Given the description of an element on the screen output the (x, y) to click on. 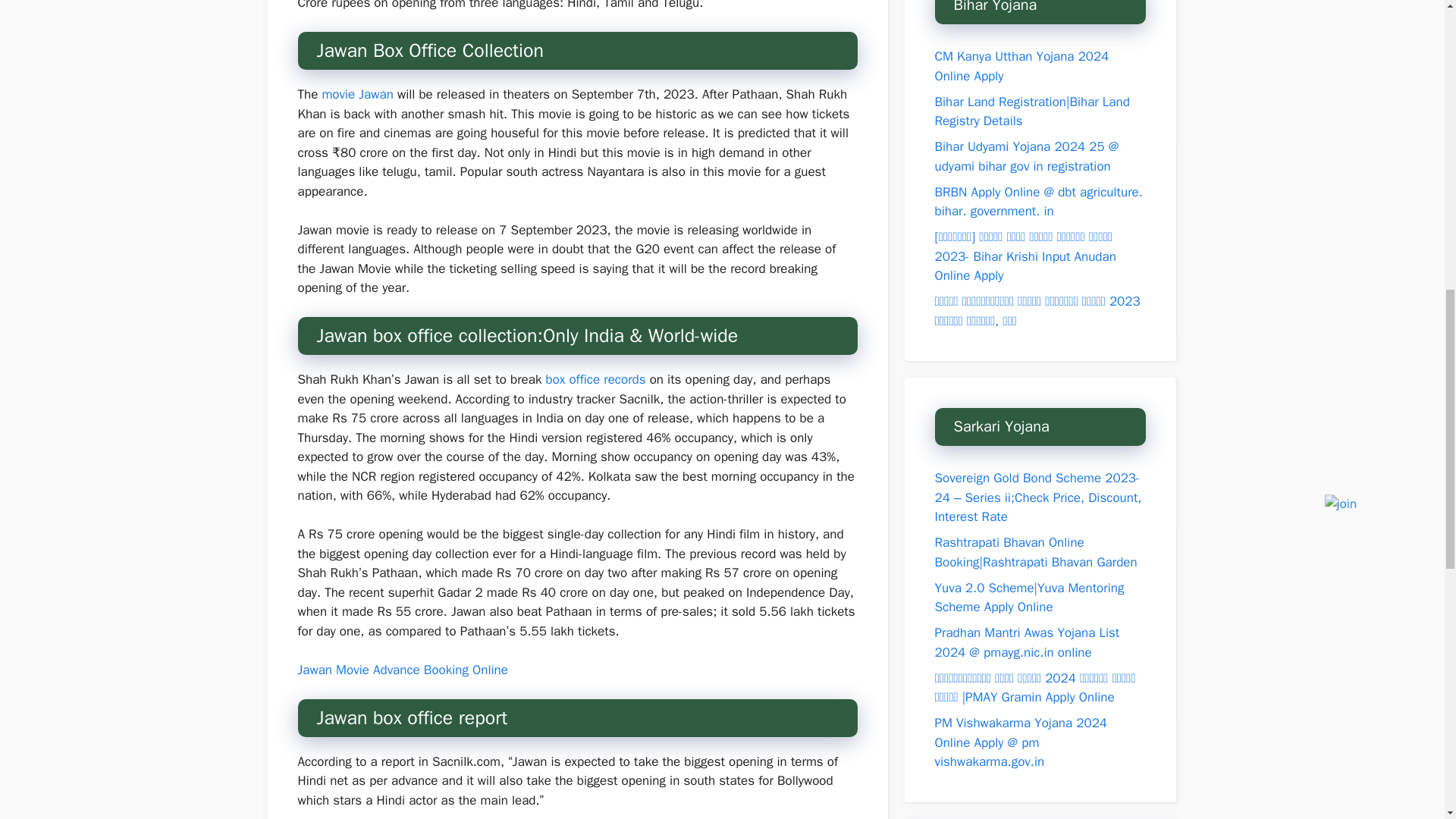
movie Jawan (358, 94)
box office records (595, 379)
CM Kanya Utthan Yojana 2024 Online Apply (1021, 66)
Jawan Movie Advance Booking Online (401, 669)
